Given the description of an element on the screen output the (x, y) to click on. 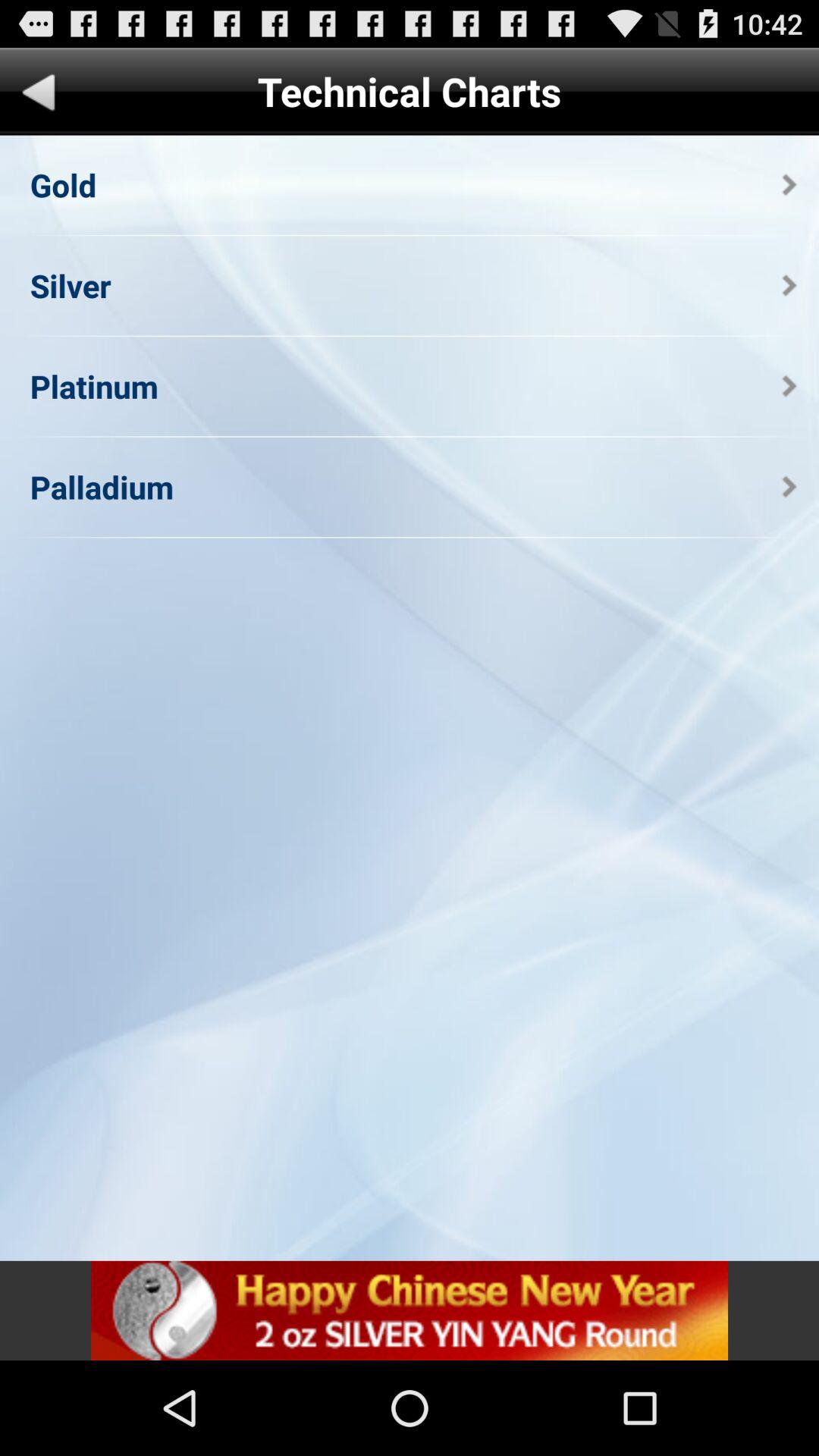
launch icon next to the palladium (789, 486)
